Given the description of an element on the screen output the (x, y) to click on. 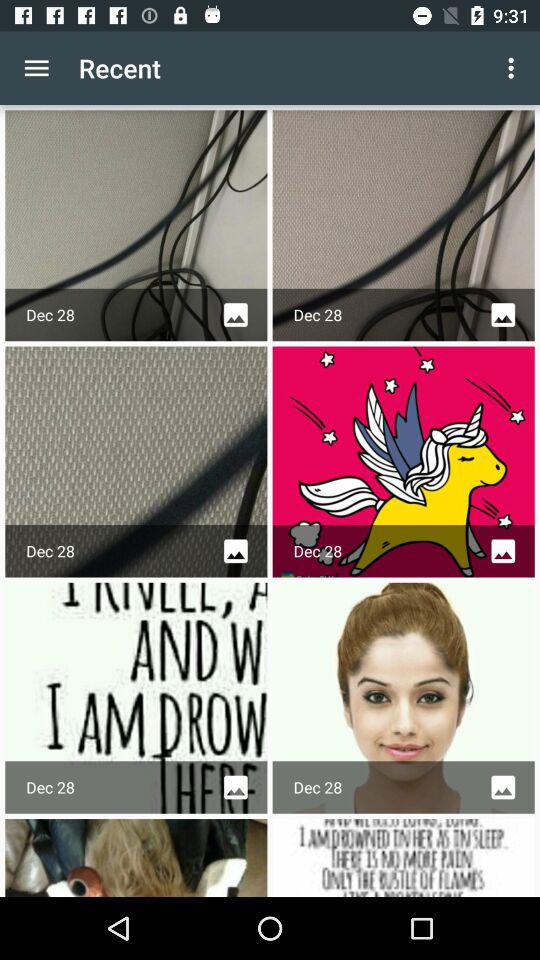
choose app next to recent item (36, 68)
